Given the description of an element on the screen output the (x, y) to click on. 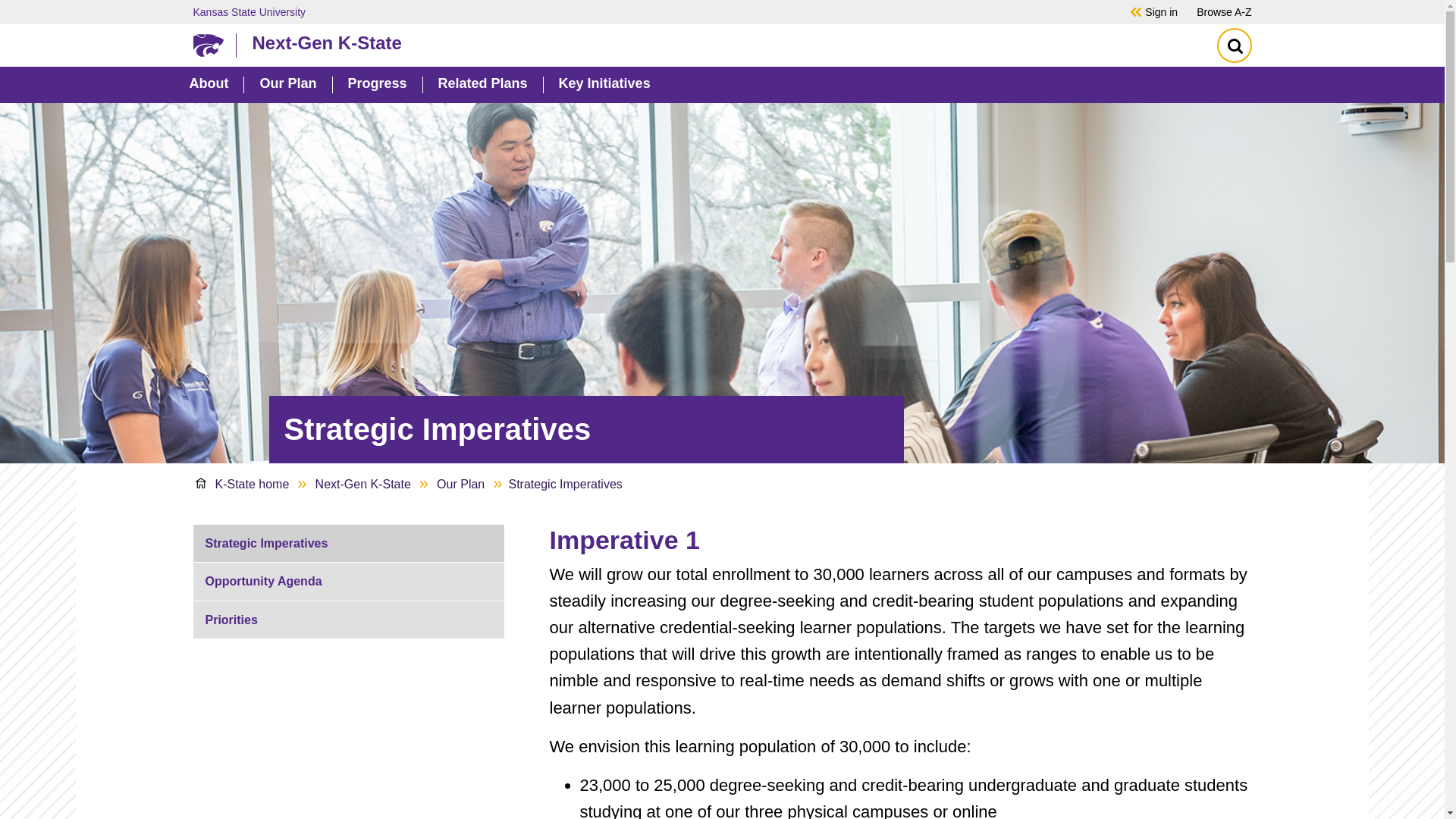
Browse A-Z (1223, 11)
Key Initiatives (604, 84)
Next-Gen K-State (718, 43)
Related Plans (482, 84)
About (208, 84)
Progress (376, 84)
Kansas State University (639, 11)
Our Plan (287, 84)
Sign in (1160, 11)
